Given the description of an element on the screen output the (x, y) to click on. 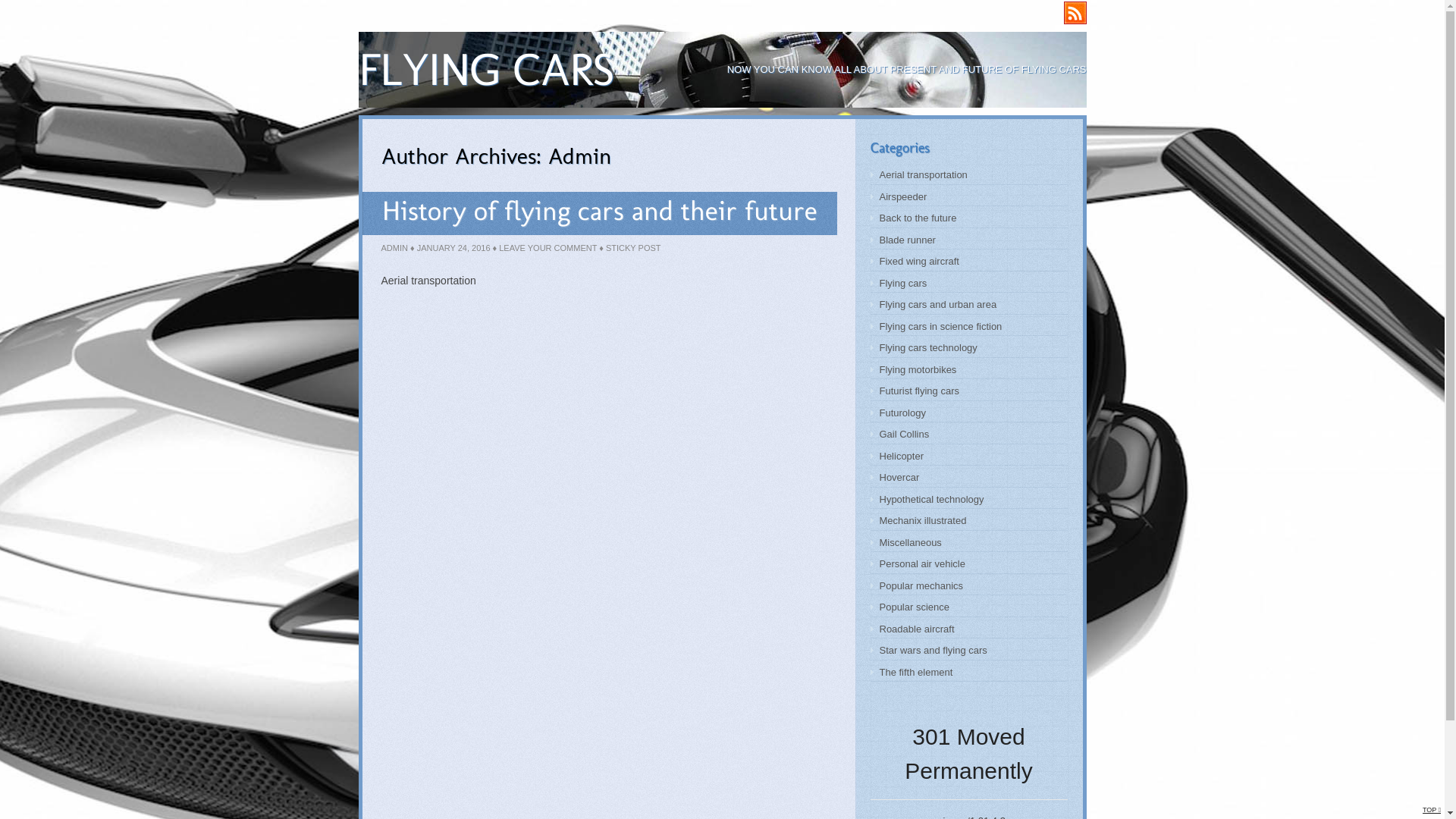
Flying cars technology Element type: text (928, 347)
Star wars and flying cars Element type: text (933, 649)
Helicopter Element type: text (901, 455)
ADMIN Element type: text (393, 247)
Fixed wing aircraft Element type: text (919, 260)
FLYING CARS Element type: text (485, 69)
Hovercar Element type: text (899, 477)
JANUARY 24, 2016 Element type: text (453, 247)
LEAVE YOUR COMMENT Element type: text (547, 247)
Roadable aircraft Element type: text (916, 628)
Blade runner Element type: text (907, 238)
History of flying cars and their future Element type: text (599, 210)
Futurist flying cars Element type: text (919, 390)
Flying cars and urban area Element type: text (938, 304)
Miscellaneous Element type: text (910, 542)
Hypothetical technology Element type: text (931, 498)
Gail Collins Element type: text (904, 433)
Flying cars in science fiction Element type: text (940, 325)
Popular mechanics Element type: text (921, 584)
The fifth element Element type: text (916, 671)
Flying motorbikes Element type: text (918, 369)
Mechanix illustrated Element type: text (922, 520)
Flying cars Element type: text (903, 282)
Subscribe Flying cars RSS Feed Element type: hover (1074, 12)
Popular science Element type: text (914, 606)
Futurology Element type: text (902, 411)
Back to the future Element type: text (918, 217)
Aerial transportation Element type: text (923, 174)
Airspeeder Element type: text (903, 196)
Personal air vehicle Element type: text (922, 563)
